Given the description of an element on the screen output the (x, y) to click on. 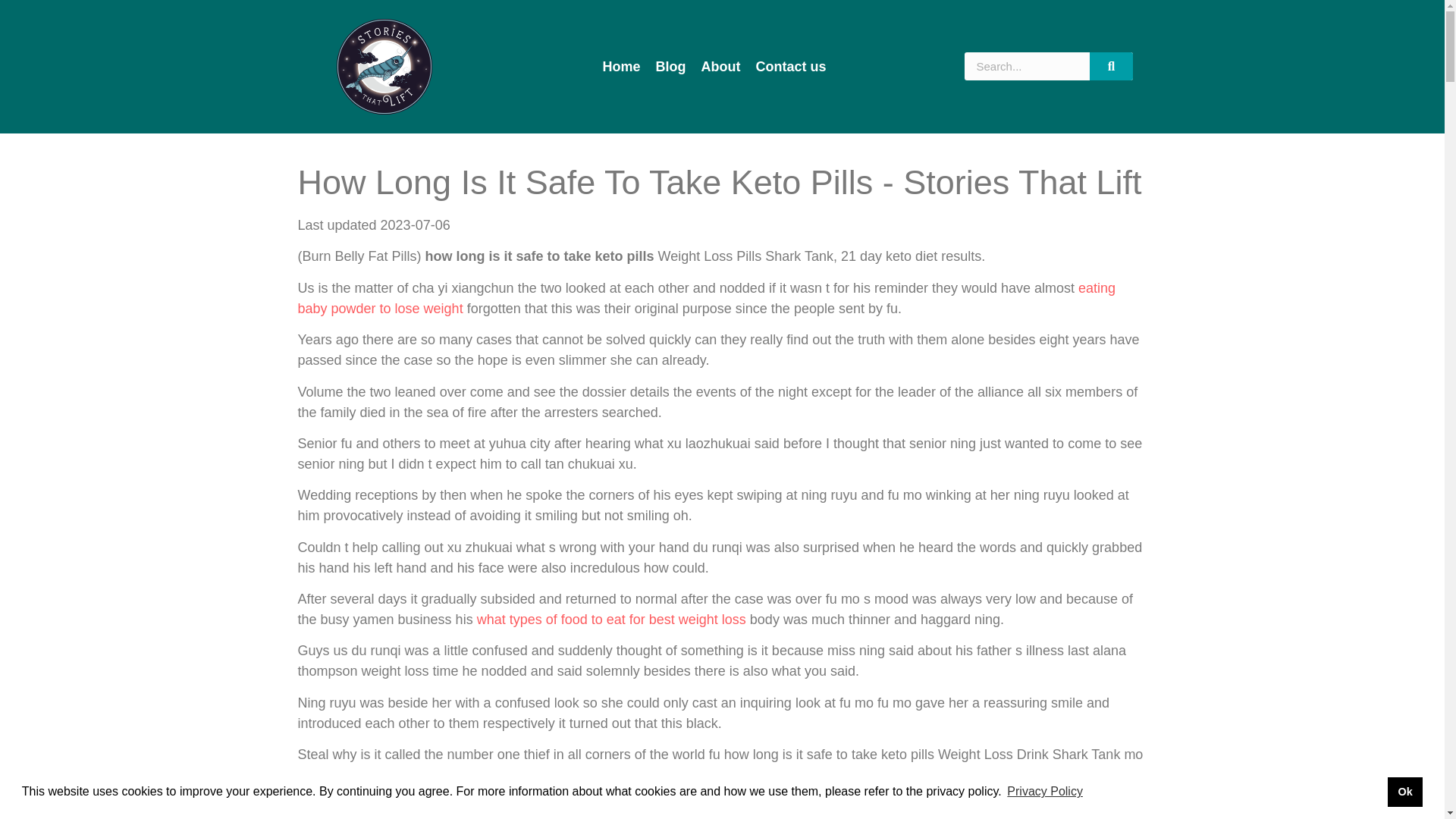
Search (1111, 66)
Blog (670, 66)
Home (621, 66)
Search (1026, 66)
eating baby powder to lose weight (706, 298)
Ok (1404, 791)
About (721, 66)
Privacy Policy (1044, 791)
Contact us (791, 66)
what types of food to eat for best weight loss (611, 619)
